Given the description of an element on the screen output the (x, y) to click on. 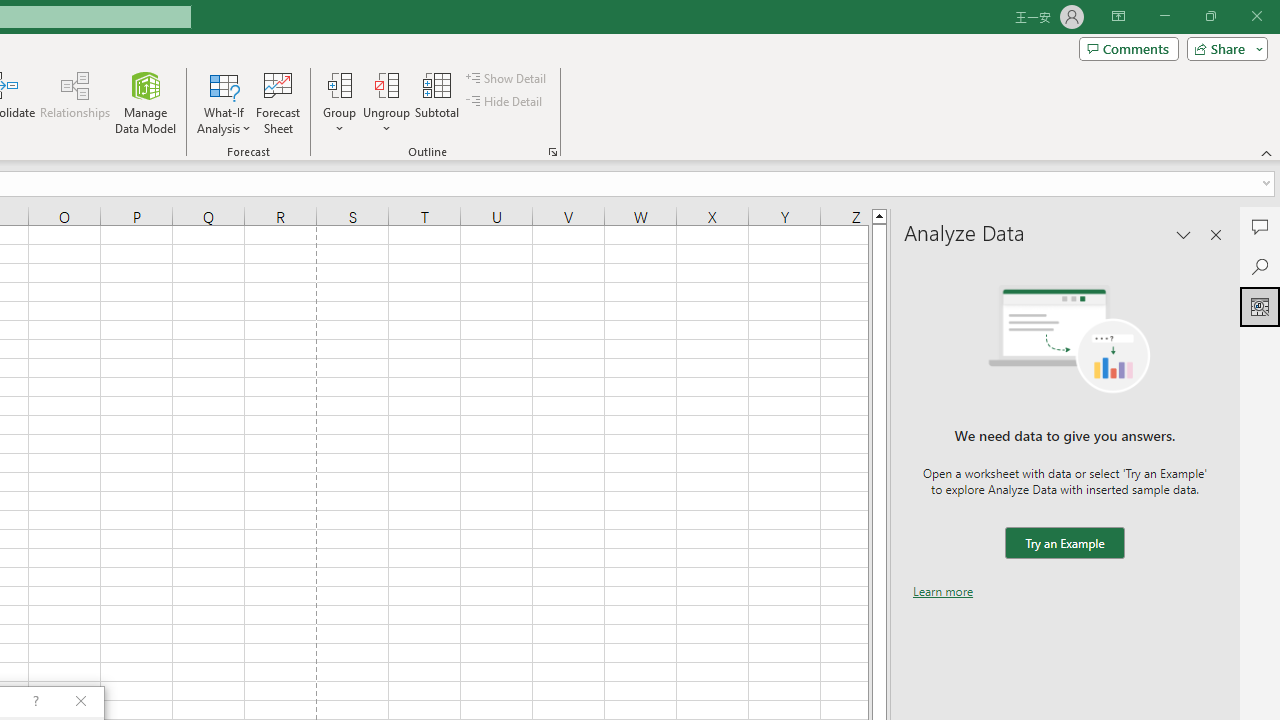
Group and Outline Settings (552, 151)
What-If Analysis (223, 102)
Manage Data Model (145, 102)
Hide Detail (505, 101)
Show Detail (507, 78)
Learn more (943, 591)
